Given the description of an element on the screen output the (x, y) to click on. 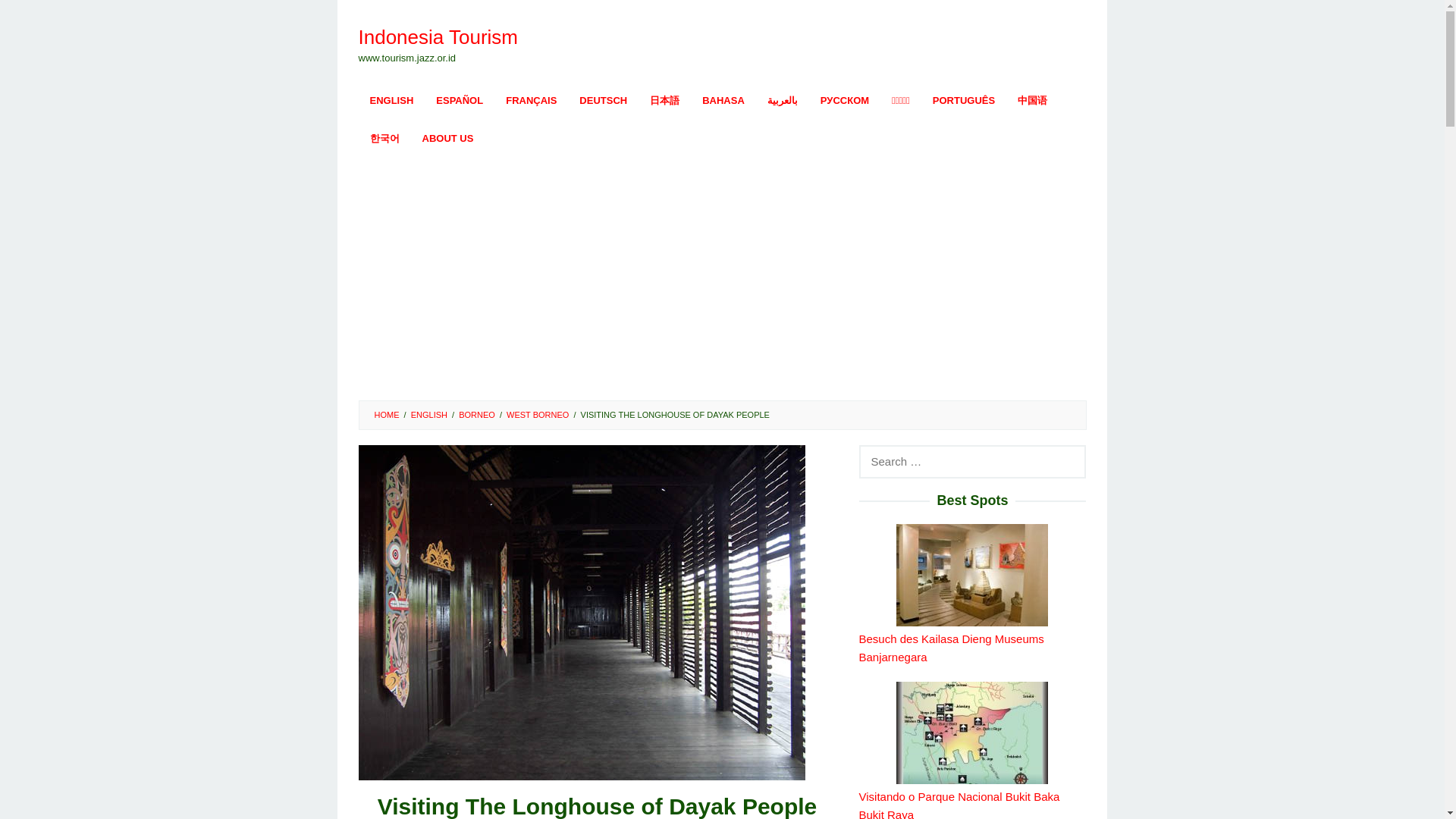
BORNEO (476, 414)
ENGLISH (428, 414)
HOME (386, 414)
DEUTSCH (603, 100)
ABOUT US (447, 138)
BAHASA (722, 100)
WEST BORNEO (537, 414)
Indonesia Tourism (438, 36)
ENGLISH (391, 100)
